Given the description of an element on the screen output the (x, y) to click on. 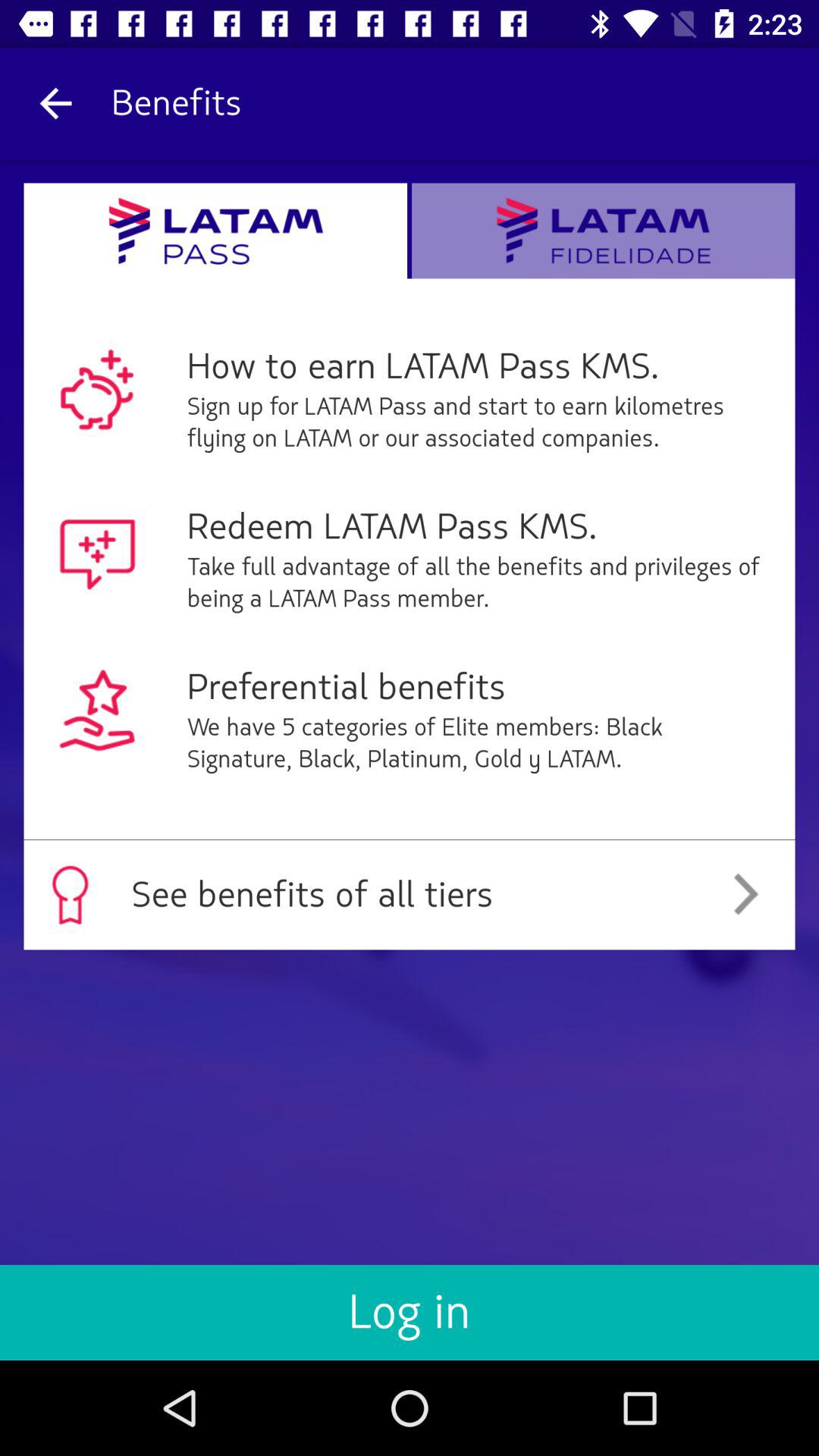
see more options (603, 230)
